Given the description of an element on the screen output the (x, y) to click on. 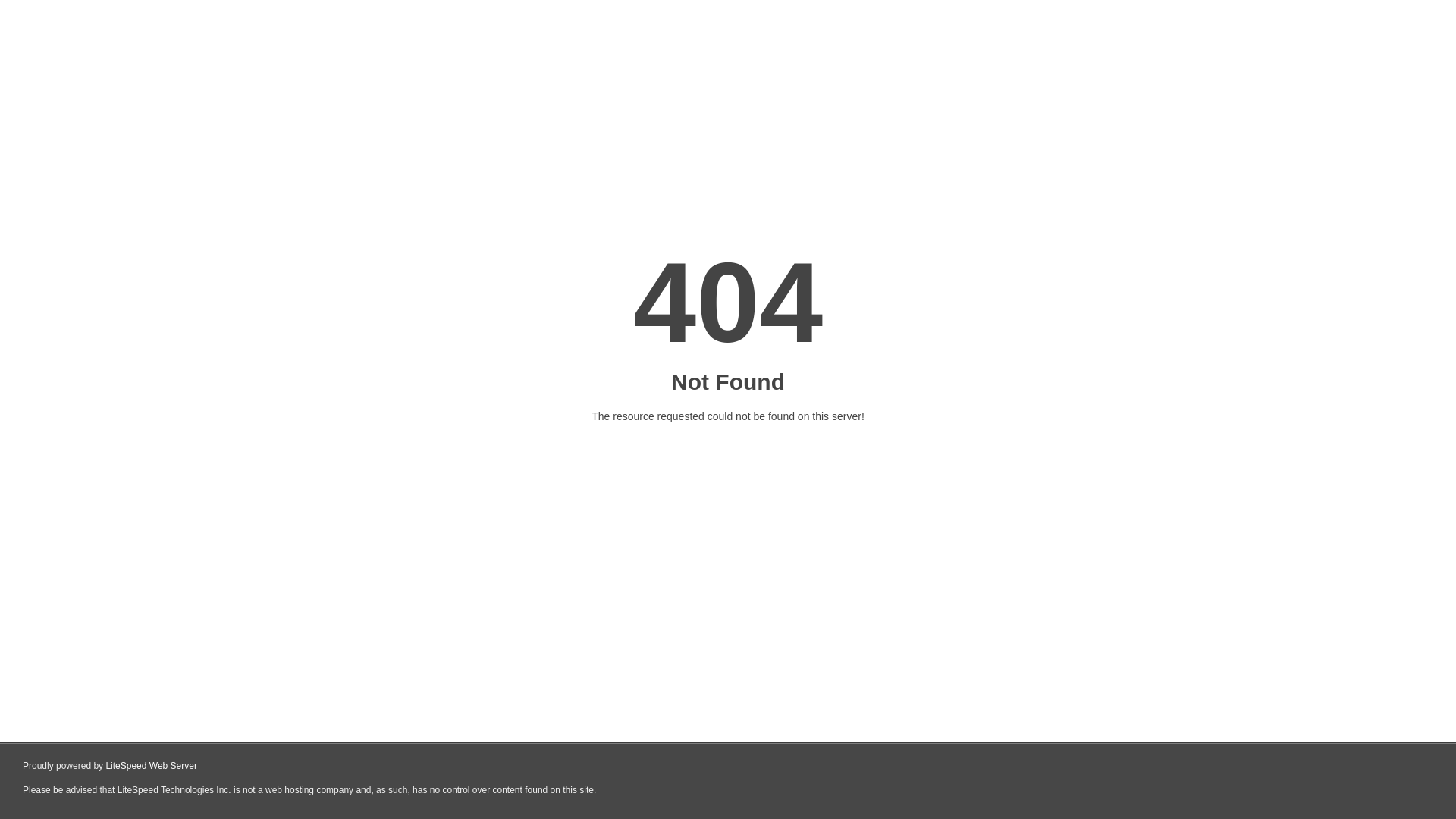
LiteSpeed Web Server Element type: text (151, 765)
